Given the description of an element on the screen output the (x, y) to click on. 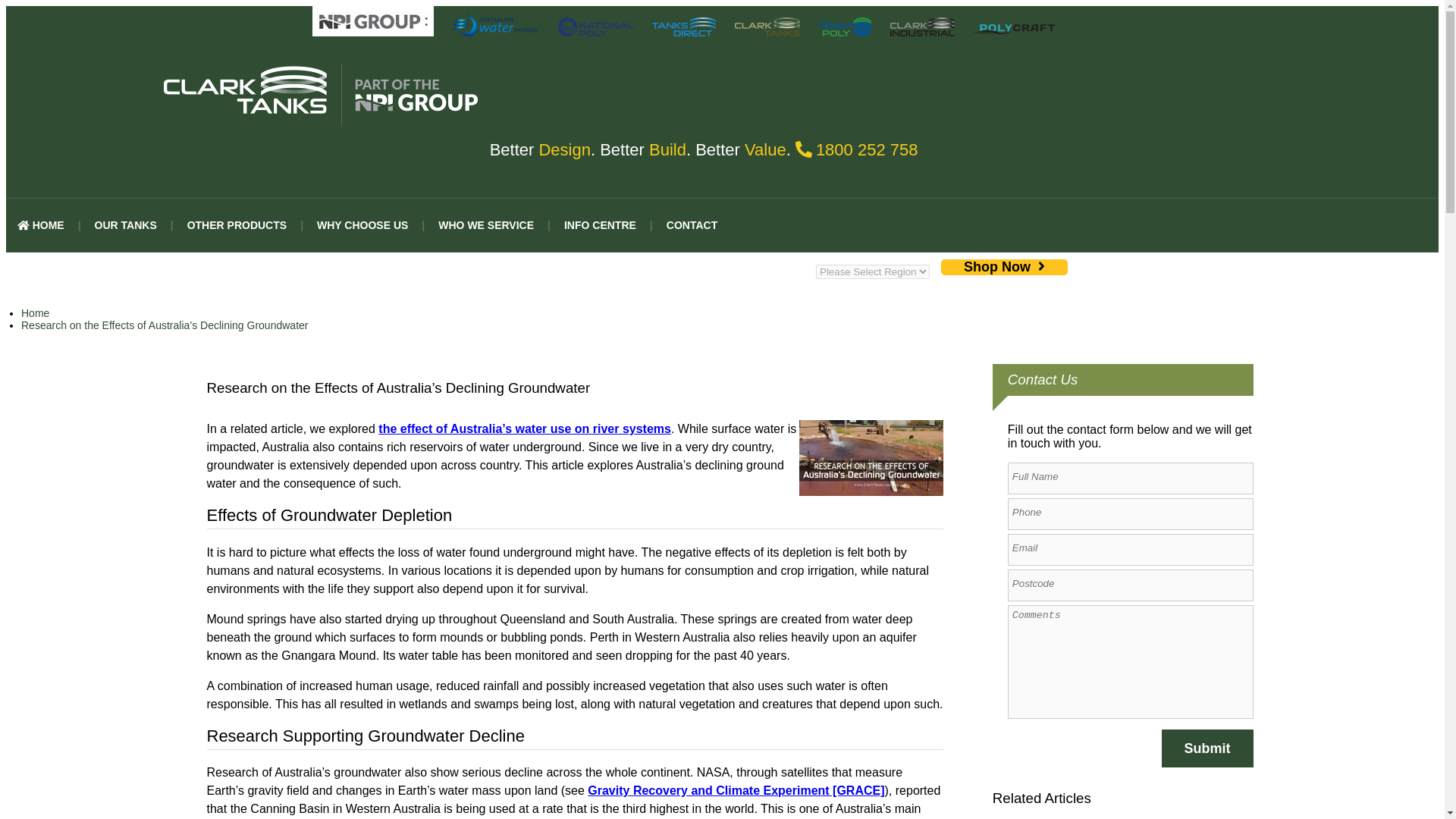
HOME (40, 224)
1800 252 758 (866, 149)
WHO WE SERVICE (485, 224)
OUR TANKS (125, 224)
WHY CHOOSE US (362, 224)
OTHER PRODUCTS (237, 224)
